Given the description of an element on the screen output the (x, y) to click on. 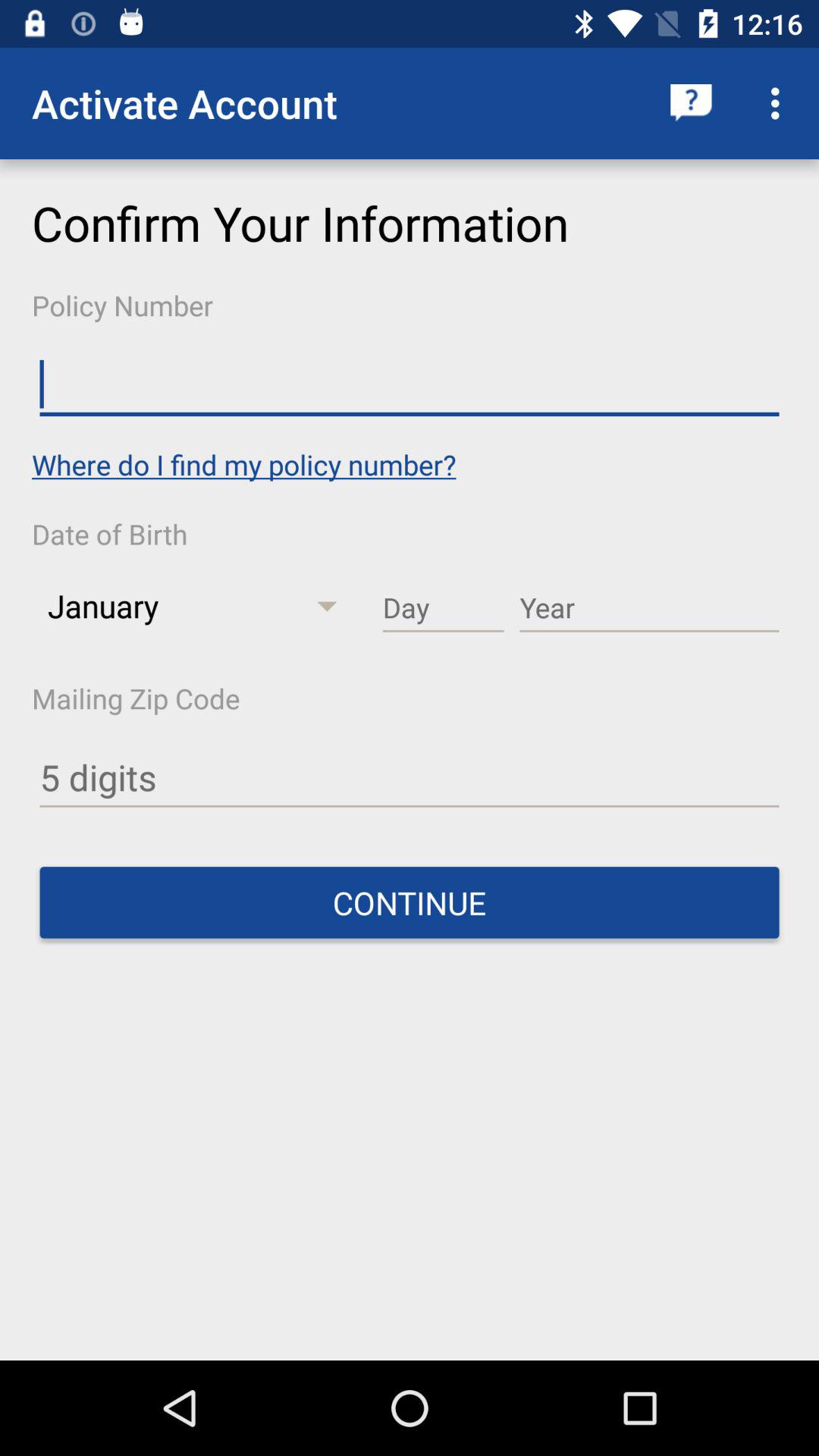
type in your policy number (409, 384)
